Given the description of an element on the screen output the (x, y) to click on. 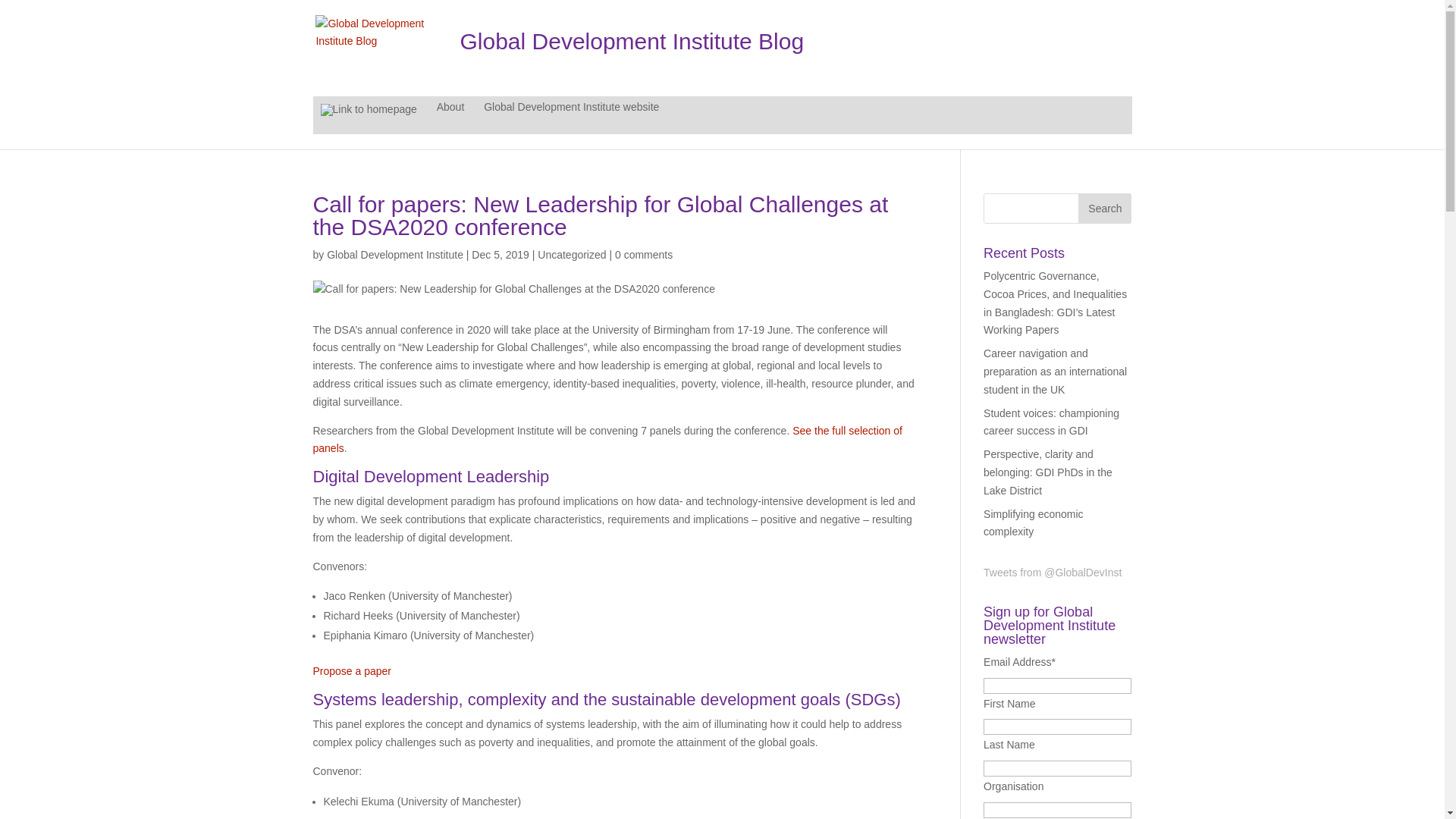
Student voices: championing career success in GDI (1051, 422)
Digital Development Leadership (430, 476)
See the full selection of panels (607, 440)
0 comments (643, 254)
Search (1104, 208)
Search (1104, 208)
Propose a paper (352, 671)
Posts by Global Development Institute (394, 254)
Uncategorized (571, 254)
